Given the description of an element on the screen output the (x, y) to click on. 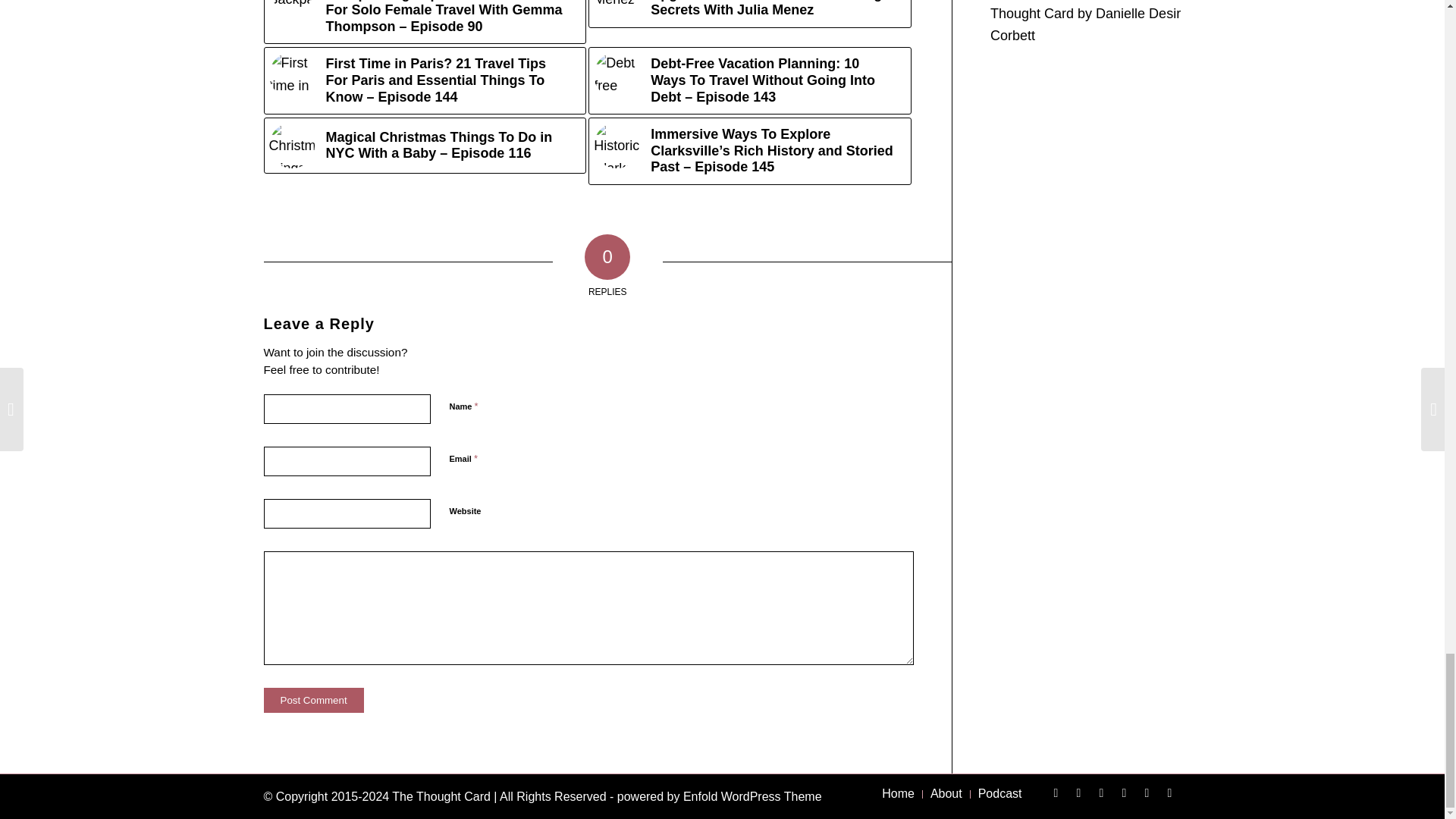
Backing Solo Travel Tips With Gemma Thompson (290, 5)
Post Comment (313, 699)
